Given the description of an element on the screen output the (x, y) to click on. 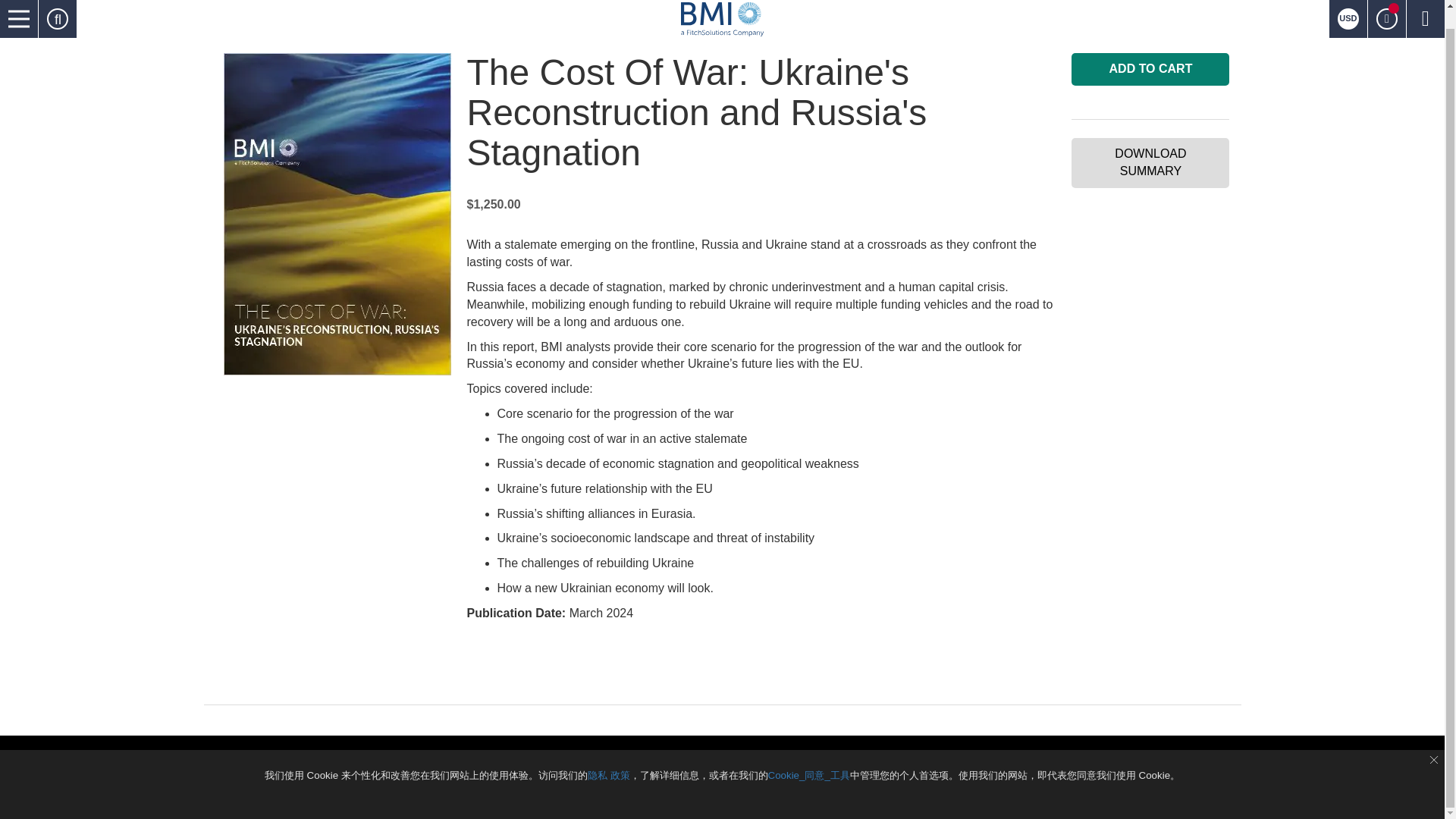
Add to Cart (1149, 69)
